Given the description of an element on the screen output the (x, y) to click on. 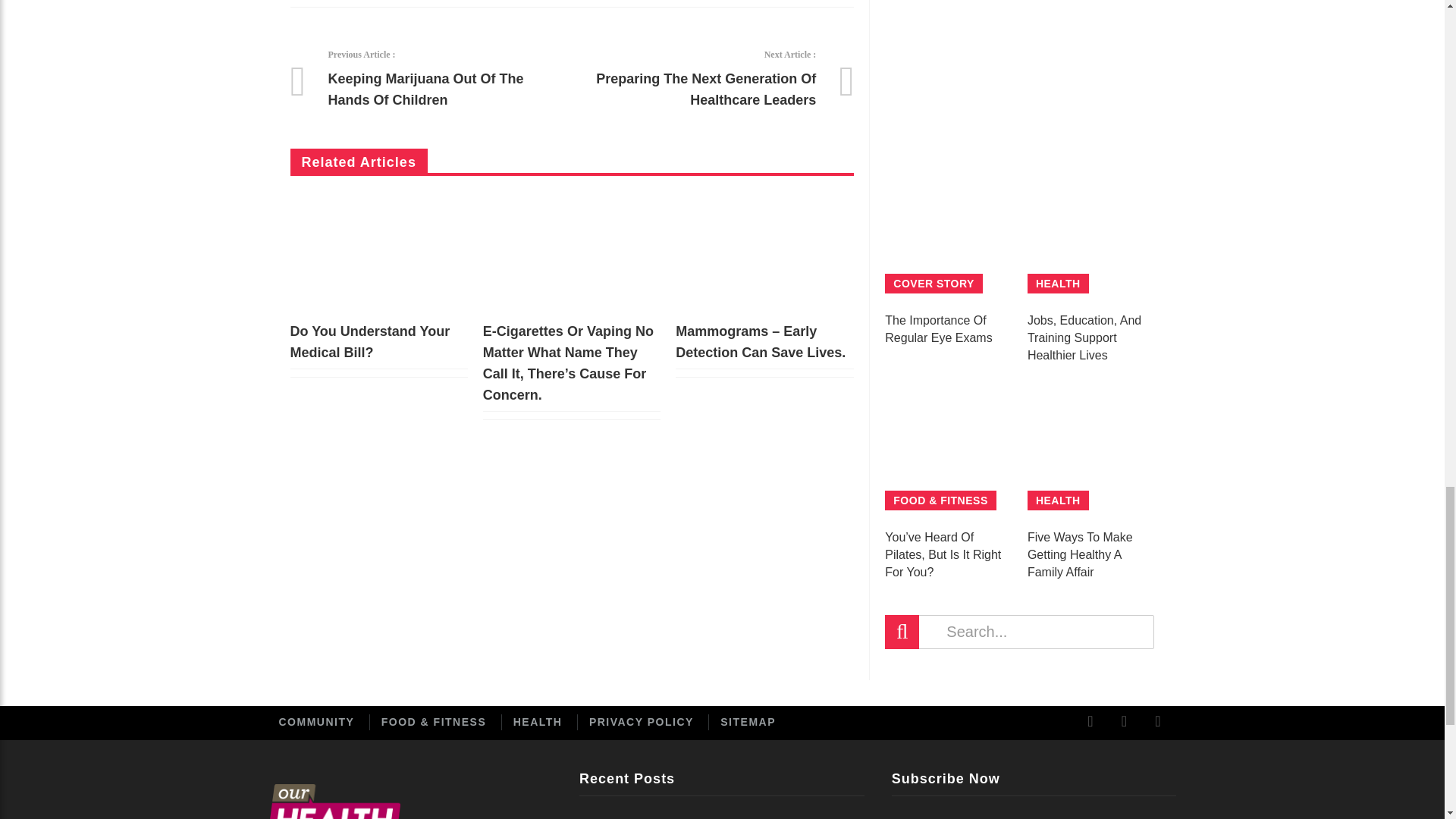
Search... (1019, 632)
Search... (1019, 632)
